Given the description of an element on the screen output the (x, y) to click on. 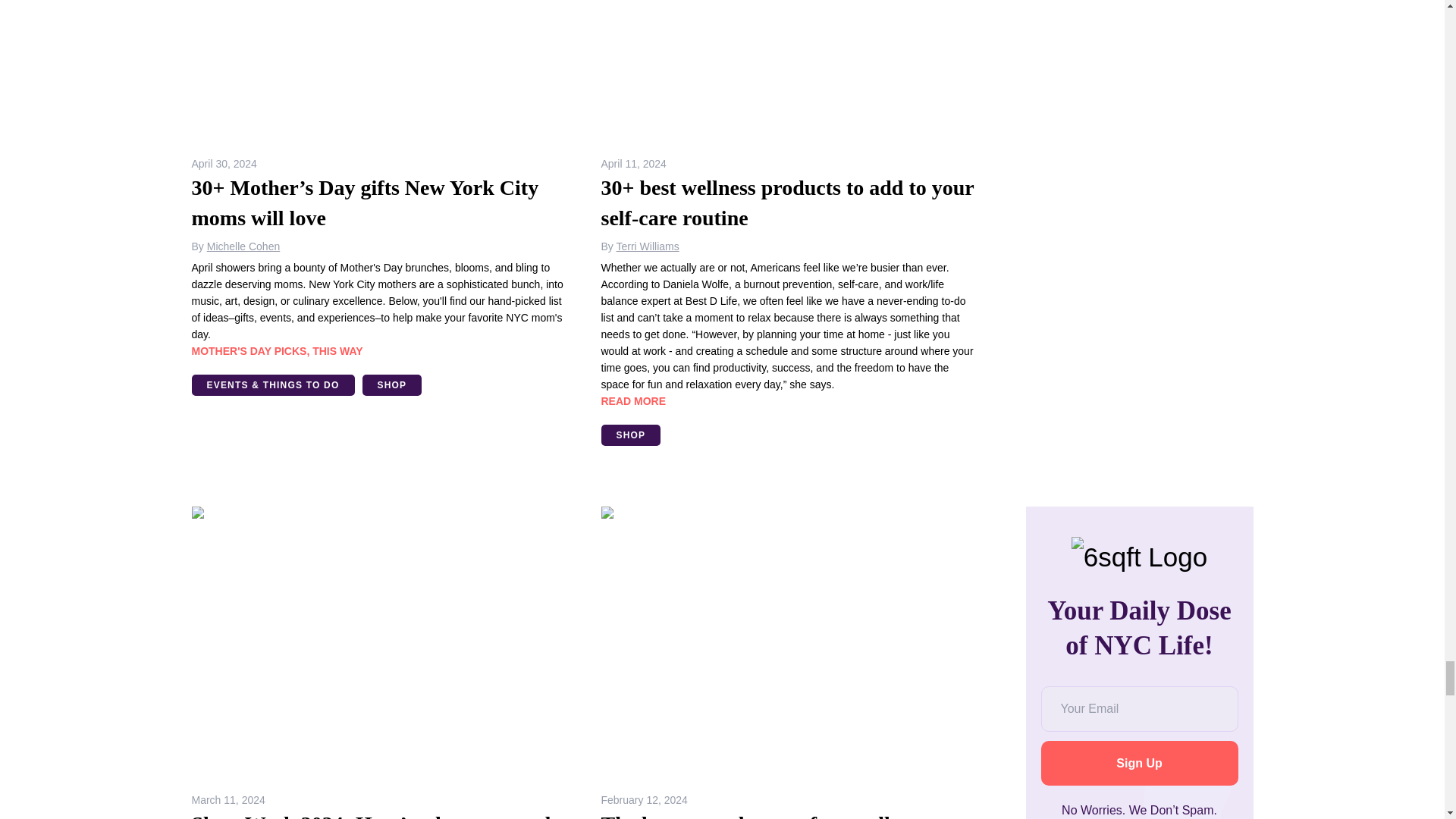
Posts by Terri Williams (646, 246)
Sign Up (1139, 763)
Posts by Michelle Cohen (243, 246)
